Given the description of an element on the screen output the (x, y) to click on. 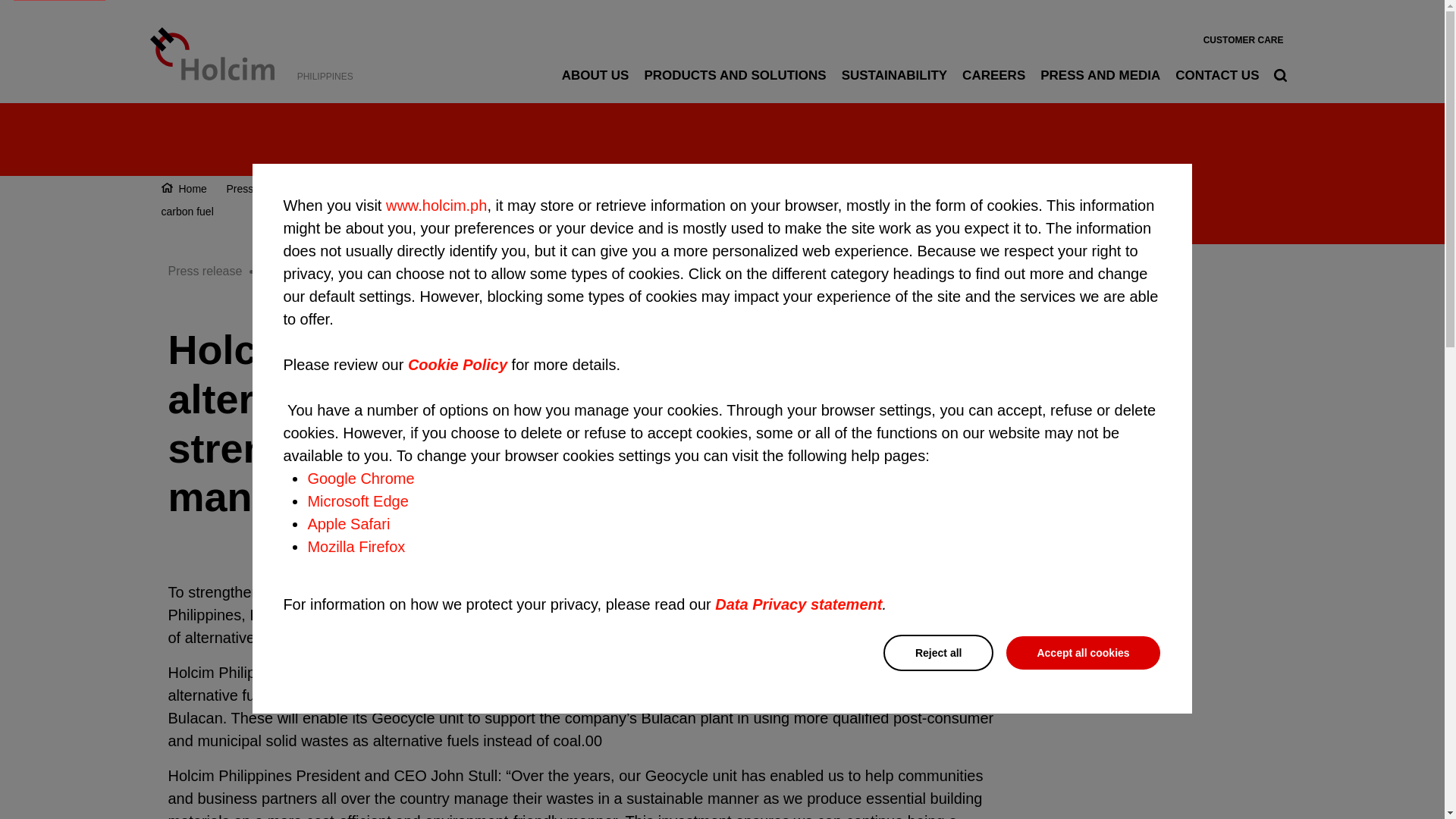
CAREERS (993, 74)
Data Protection Statement (798, 604)
PRODUCTS AND SOLUTIONS (734, 74)
SUSTAINABILITY (894, 74)
ABOUT US (595, 74)
Latest media releases (376, 188)
Press and Media (265, 188)
PRESS AND MEDIA (1100, 74)
CUSTOMER CARE (1243, 39)
